Given the description of an element on the screen output the (x, y) to click on. 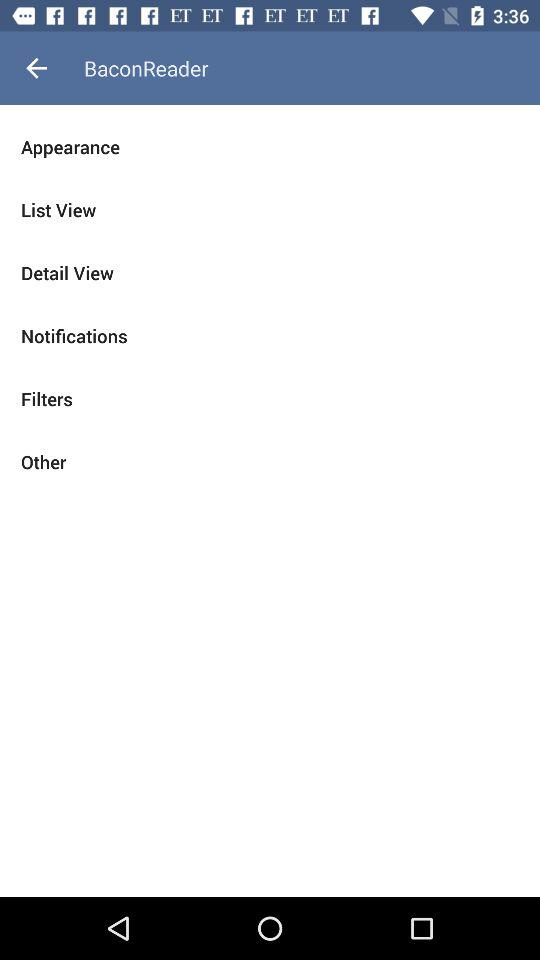
choose the notifications icon (270, 335)
